Given the description of an element on the screen output the (x, y) to click on. 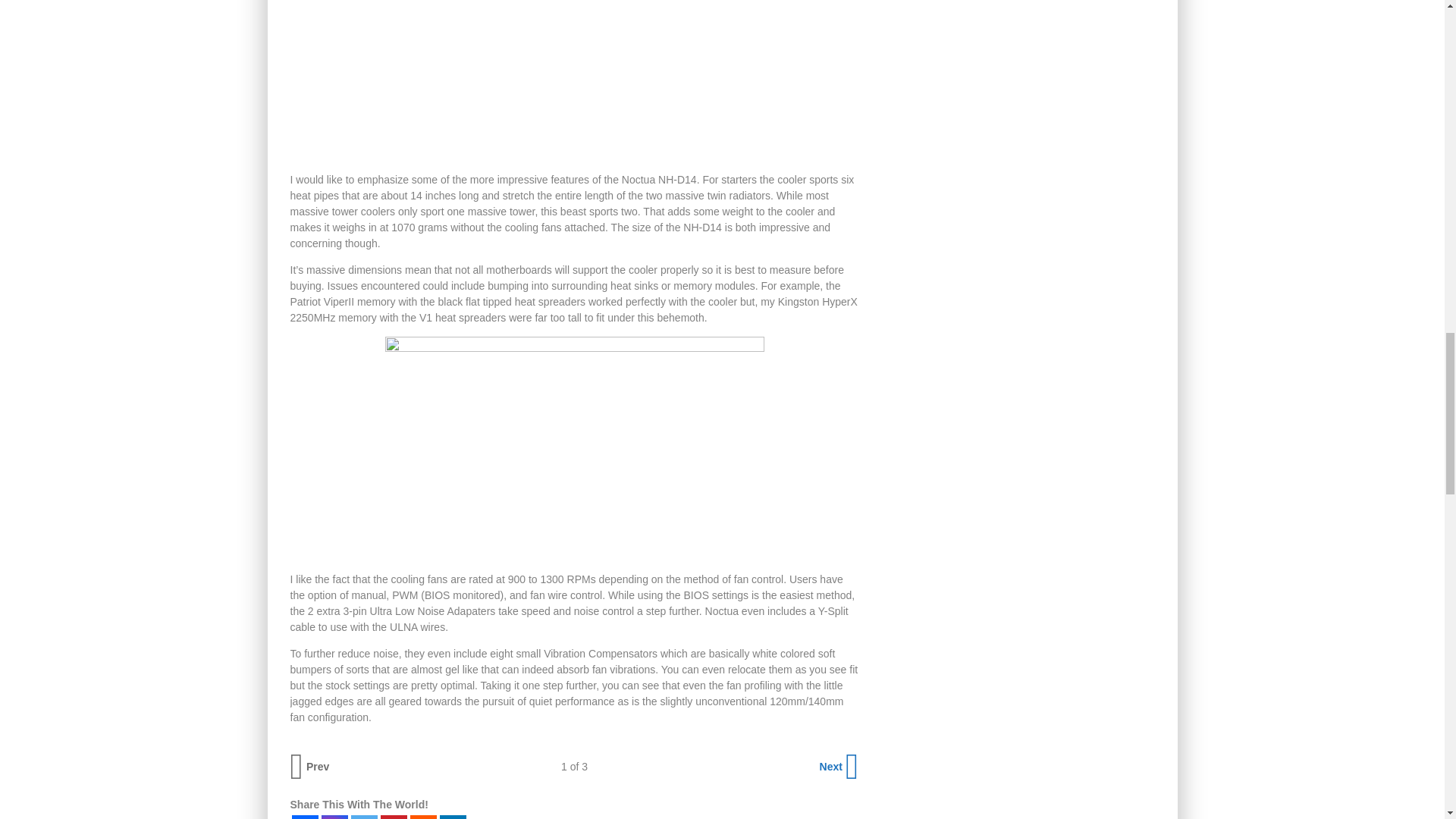
Twitter (363, 816)
Reddit (422, 816)
Facebook (304, 816)
Pinterest (393, 816)
Instagram (334, 816)
Linkedin (452, 816)
